Given the description of an element on the screen output the (x, y) to click on. 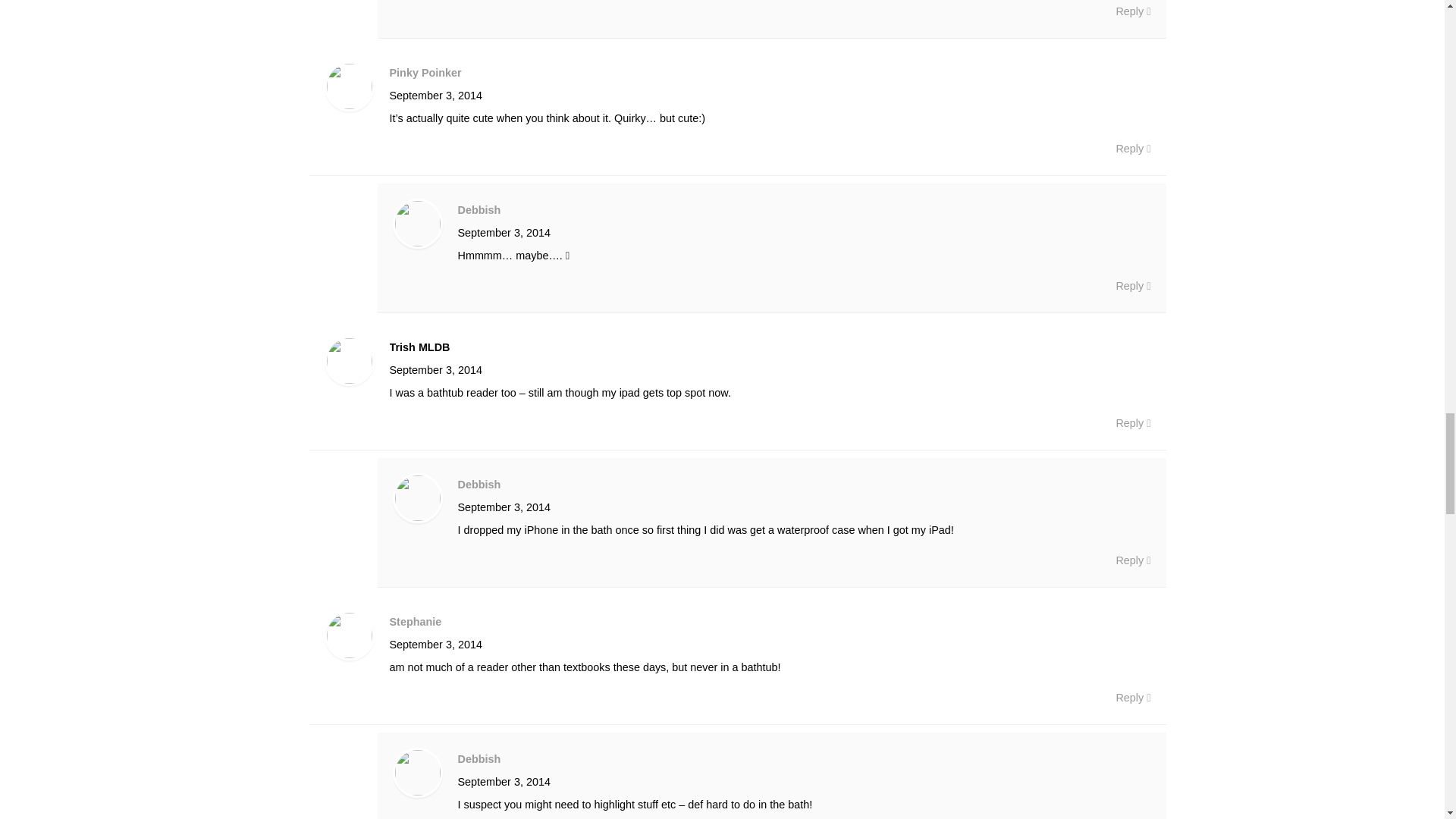
Pinky Poinker (425, 72)
Reply (1132, 11)
